Given the description of an element on the screen output the (x, y) to click on. 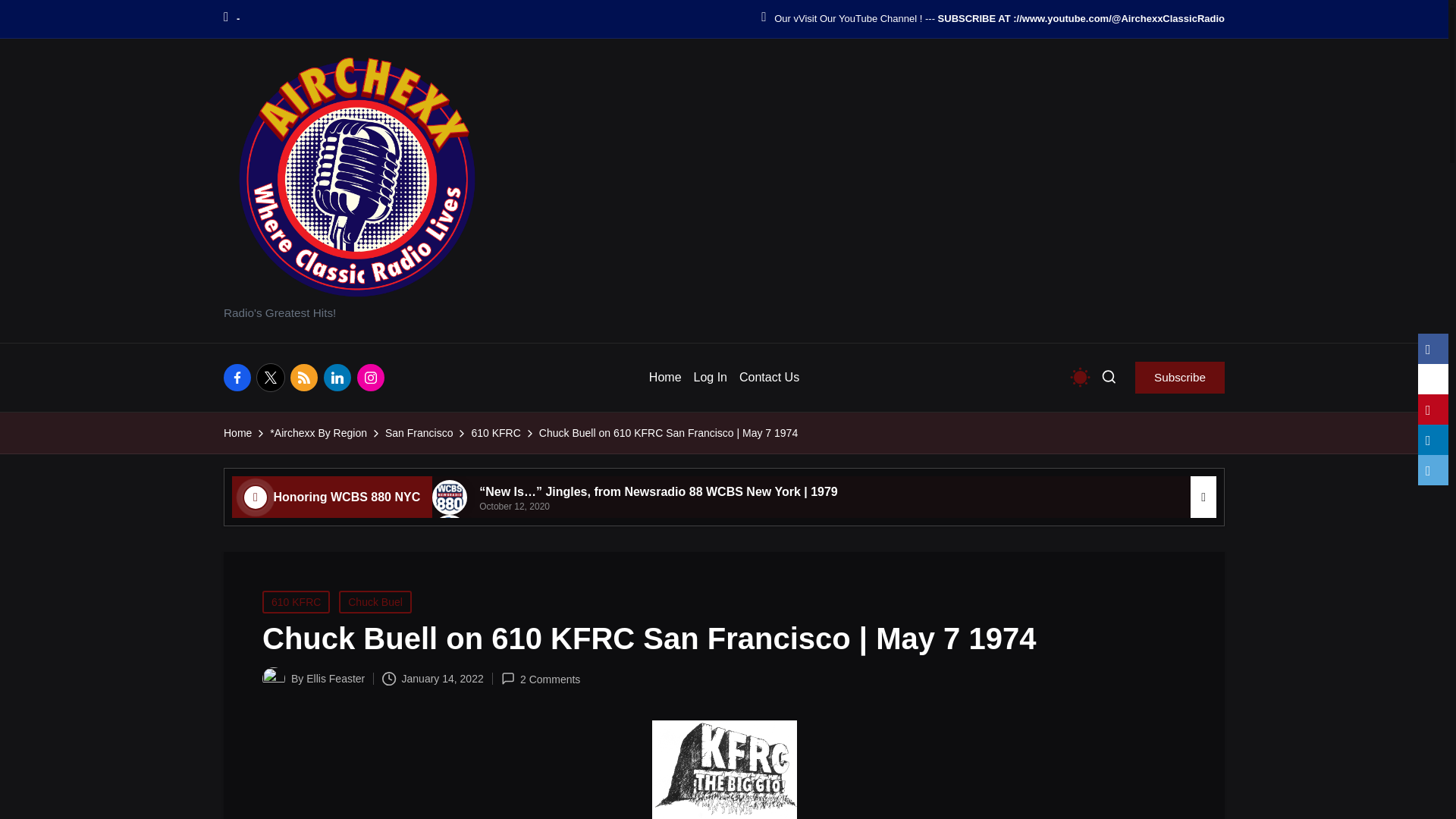
San Francisco (418, 433)
linkedin.com (339, 377)
twitter.com (273, 377)
rss.com (306, 377)
610 KFRC (494, 433)
Contact Us (769, 377)
instagram.com (373, 377)
Home (237, 433)
View all posts by Ellis Feaster (335, 678)
Subscribe (1179, 377)
